Given the description of an element on the screen output the (x, y) to click on. 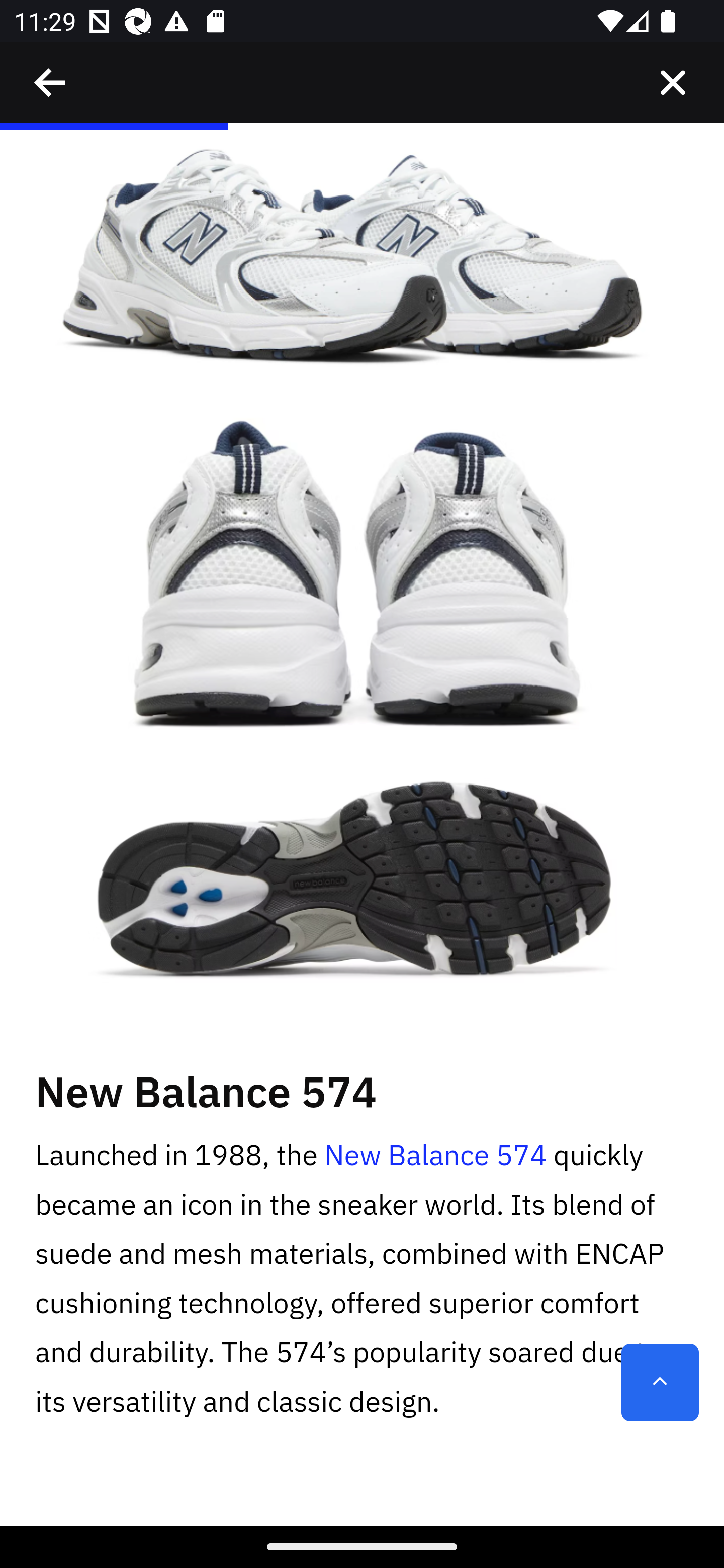
 (50, 83)
 (672, 83)
New Balance 574 (435, 1155)
Scroll to top  (659, 1382)
